Given the description of an element on the screen output the (x, y) to click on. 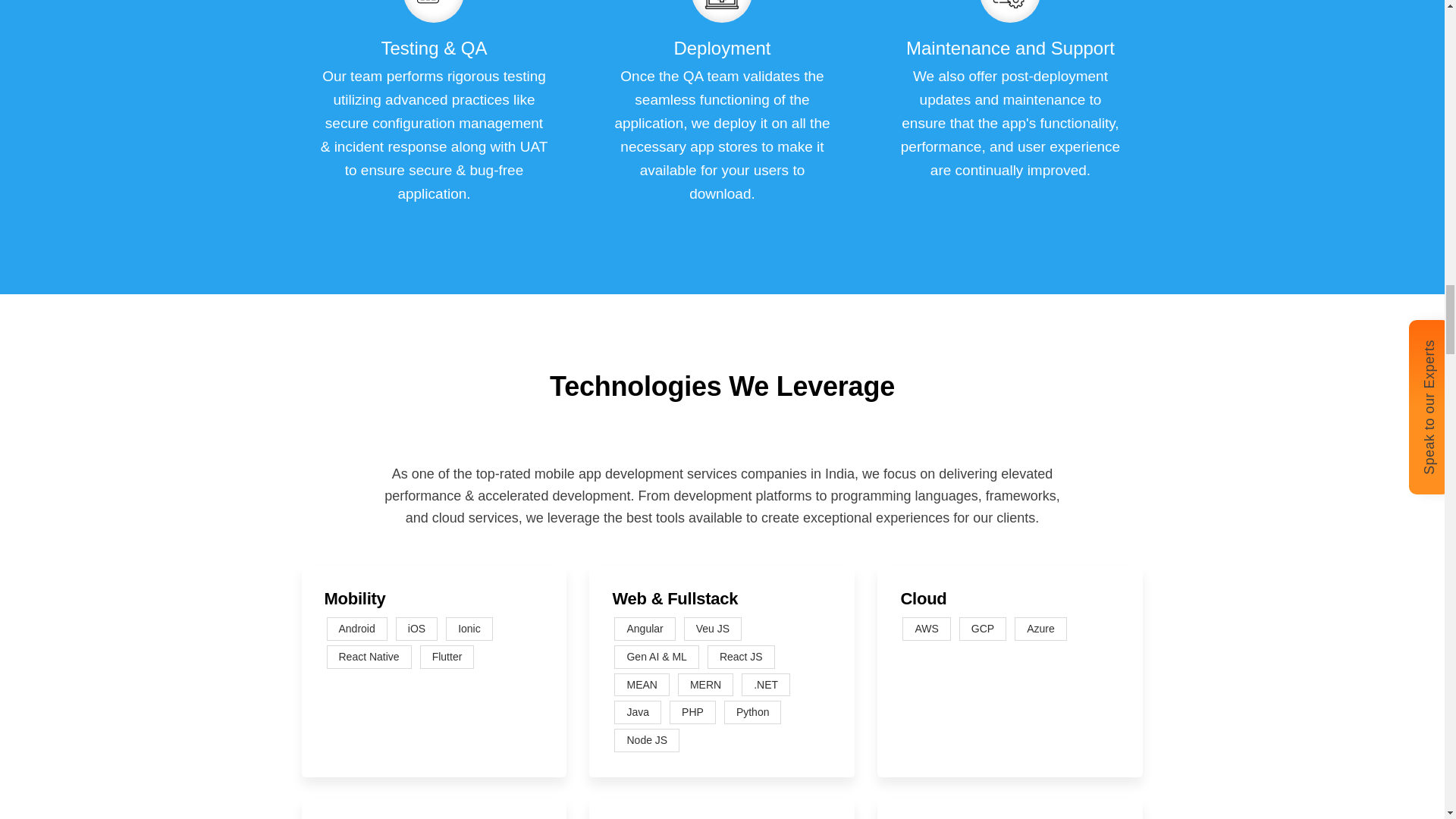
Deployment (722, 5)
Launch (433, 5)
Maintenance and Updates (1010, 5)
